Given the description of an element on the screen output the (x, y) to click on. 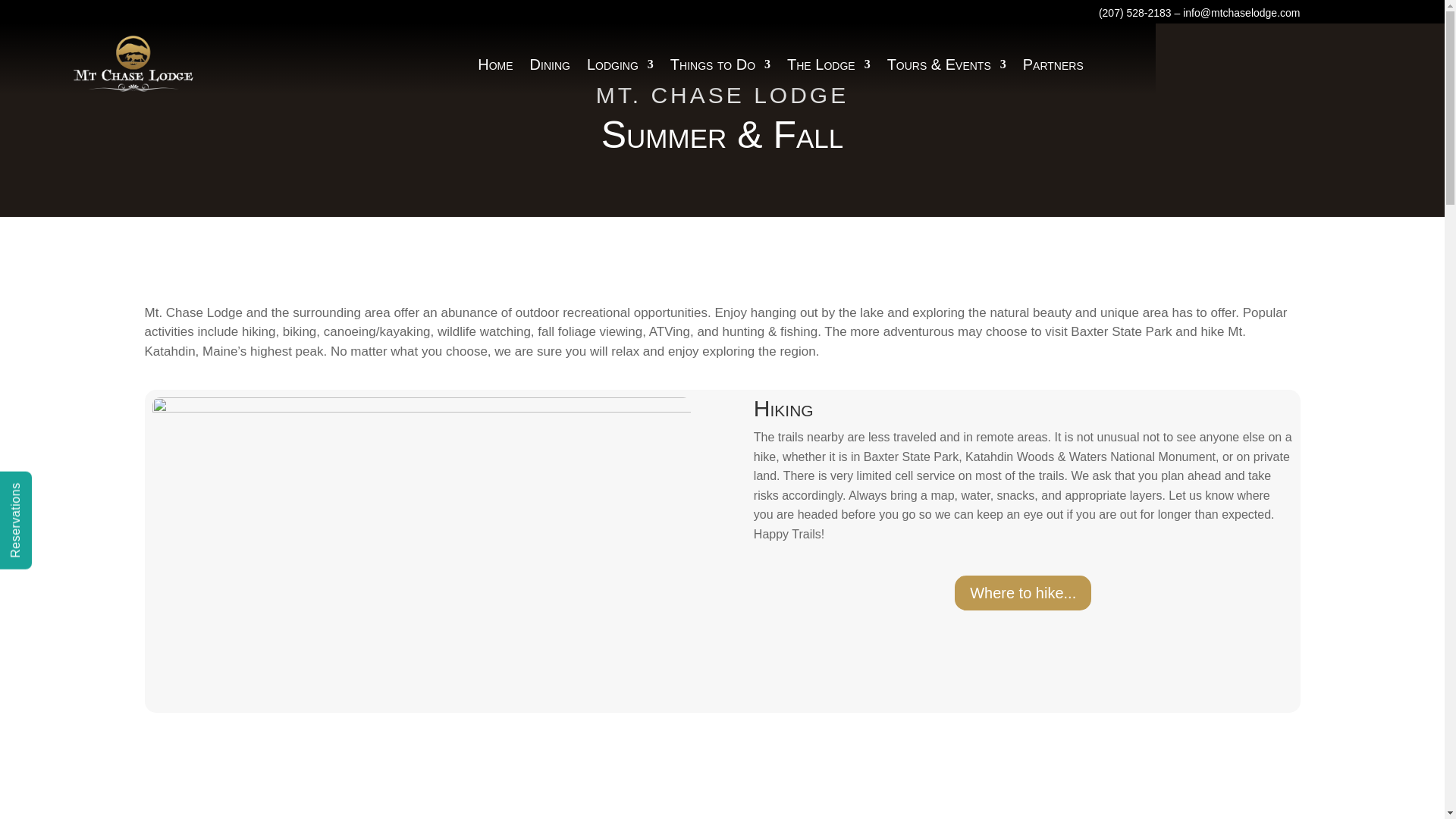
Partners (1053, 65)
Where to hike... (1022, 592)
Things to Do (719, 65)
Lodging (619, 65)
The Lodge (828, 65)
